Given the description of an element on the screen output the (x, y) to click on. 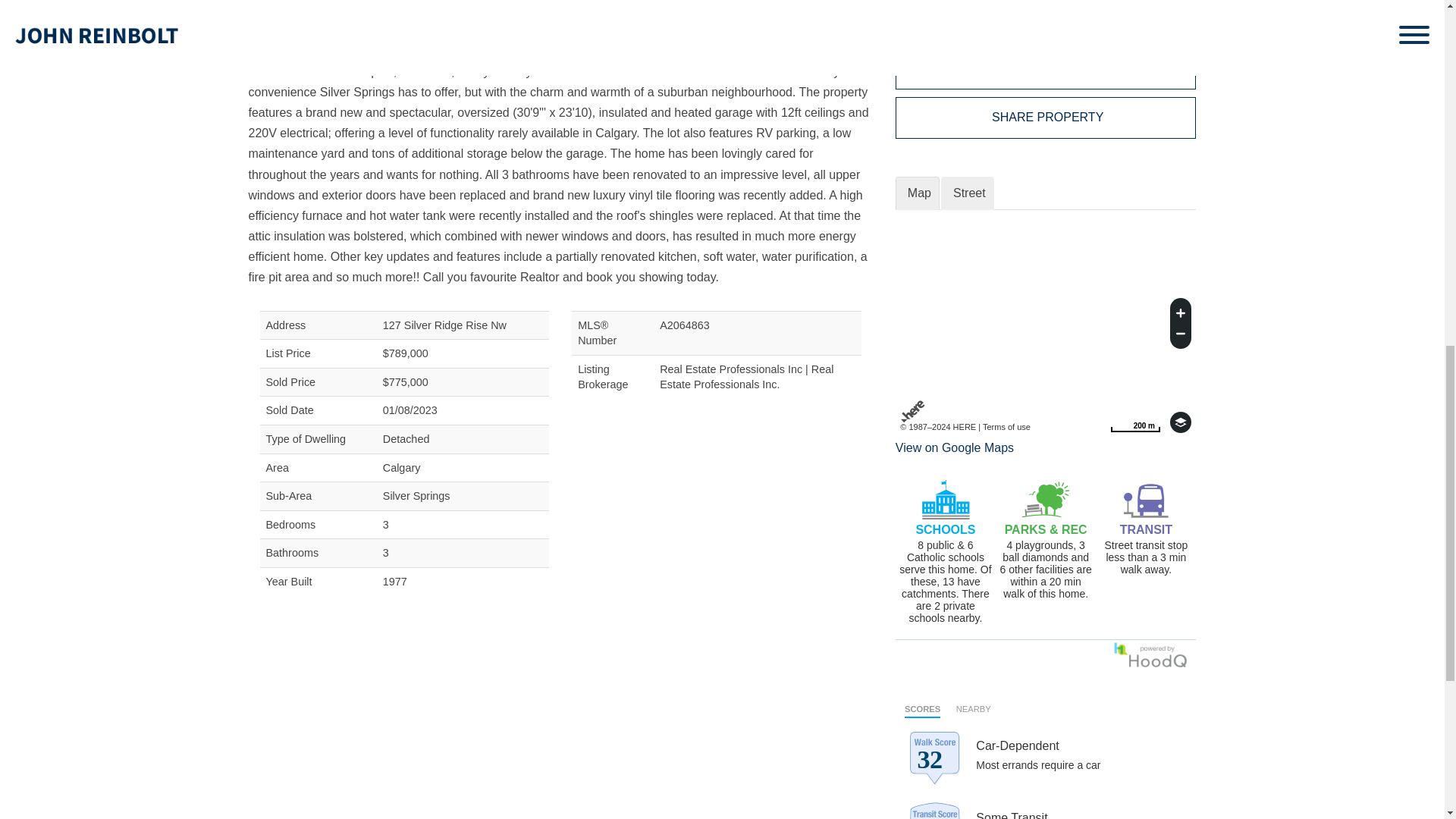
Walk Score (1045, 755)
Choose view (1180, 422)
CURRENCY CONVERTER (1045, 68)
Street (967, 192)
SHARE PROPERTY (1045, 117)
Terms of use (1006, 426)
Map (917, 192)
Change to miles (1134, 422)
View on Google Maps (1134, 422)
